Given the description of an element on the screen output the (x, y) to click on. 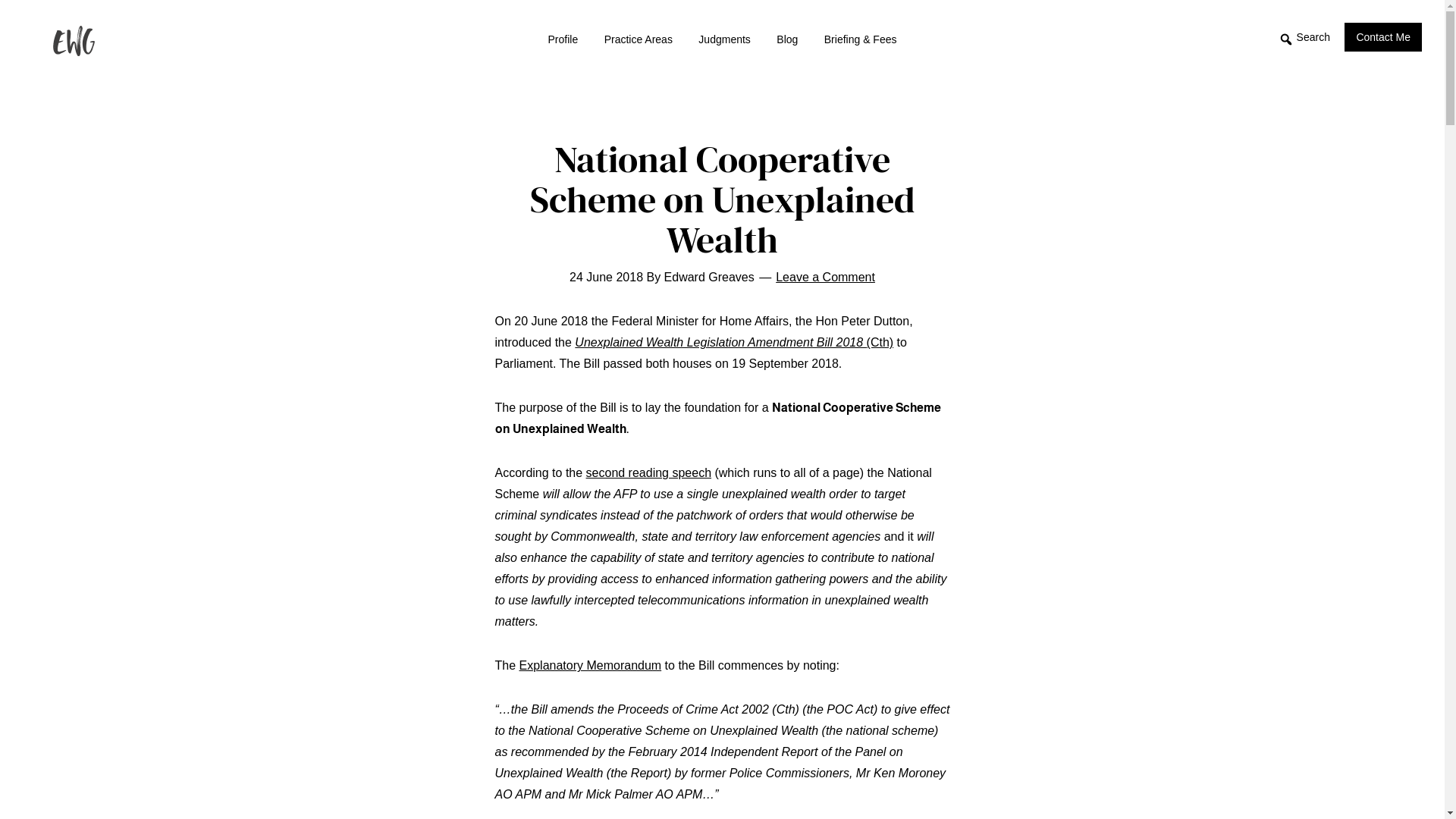
second reading speech Element type: text (648, 472)
Judgments Element type: text (724, 39)
Search Element type: text (1304, 39)
Contact Me Element type: text (1382, 36)
Practice Areas Element type: text (638, 39)
Leave a Comment Element type: text (825, 276)
Explanatory Memorandum Element type: text (590, 664)
Edward Greaves Element type: text (54, 73)
Skip to primary navigation Element type: text (0, 0)
Unexplained Wealth Legislation Amendment Bill 2018 (Cth) Element type: text (733, 341)
Briefing & Fees Element type: text (860, 39)
Blog Element type: text (787, 39)
Profile Element type: text (562, 39)
